Given the description of an element on the screen output the (x, y) to click on. 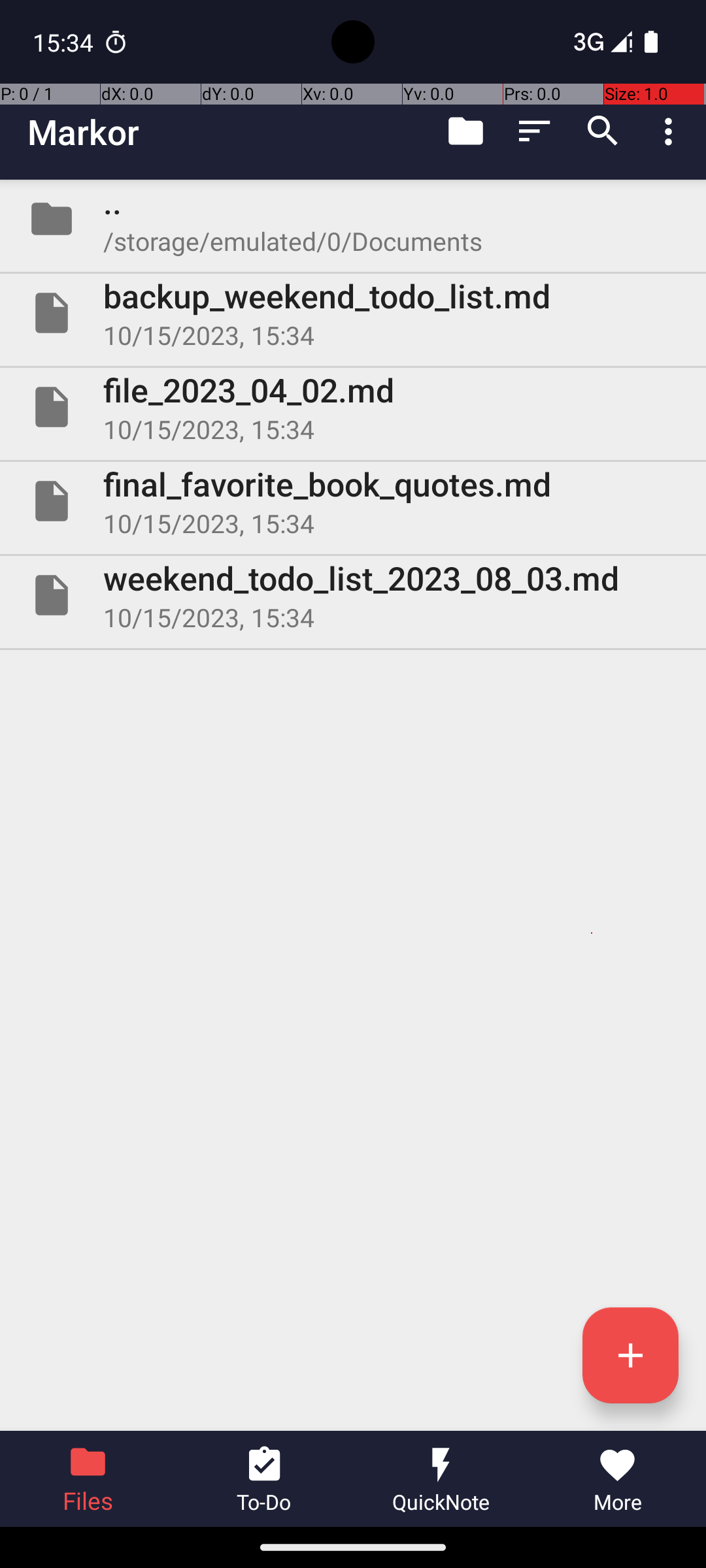
File backup_weekend_todo_list.md  Element type: android.widget.LinearLayout (353, 312)
File file_2023_04_02.md  Element type: android.widget.LinearLayout (353, 406)
File final_favorite_book_quotes.md  Element type: android.widget.LinearLayout (353, 500)
File weekend_todo_list_2023_08_03.md  Element type: android.widget.LinearLayout (353, 594)
